Given the description of an element on the screen output the (x, y) to click on. 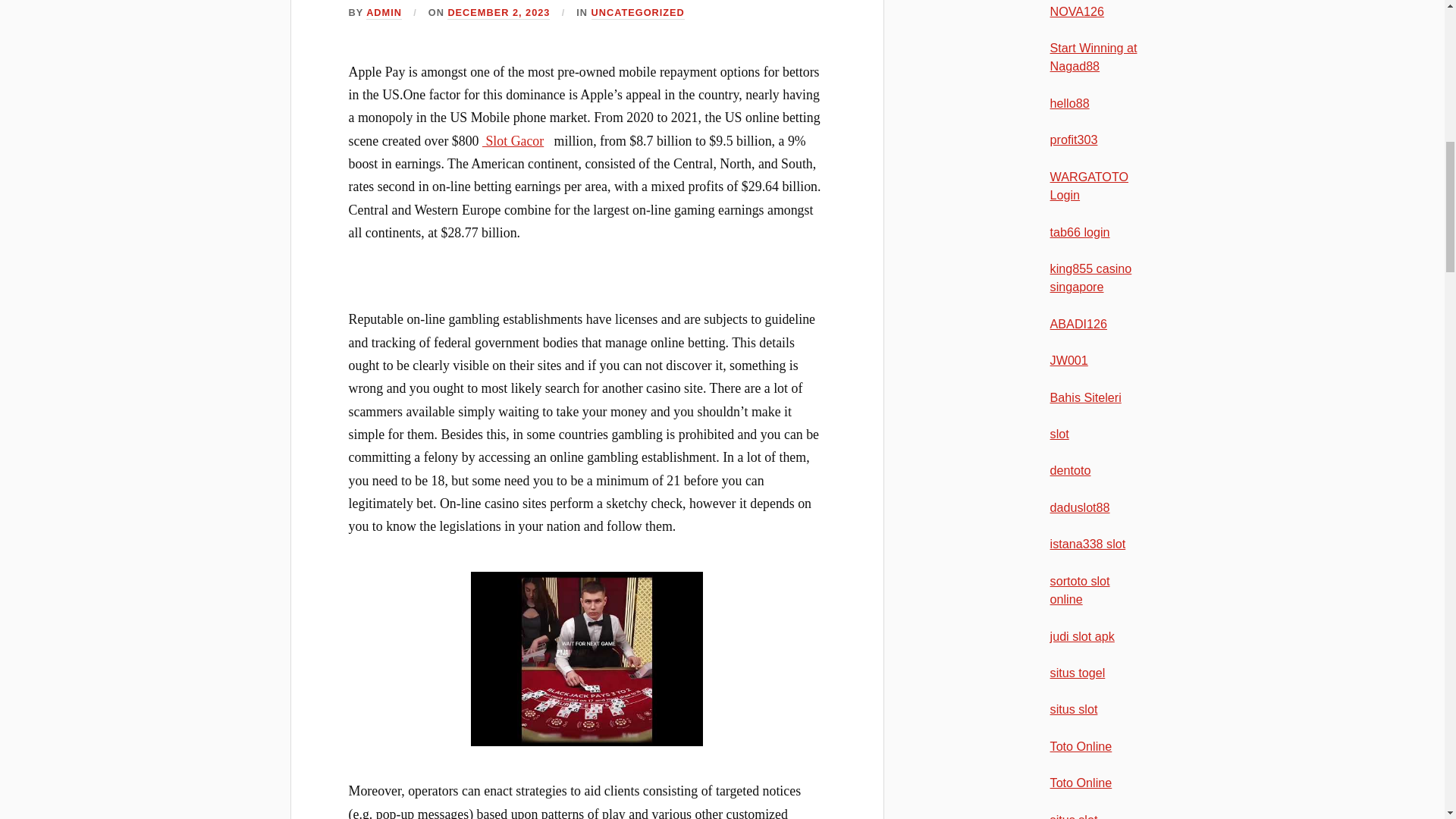
Start Winning at Nagad88 (1093, 56)
DECEMBER 2, 2023 (498, 12)
UNCATEGORIZED (637, 12)
Posts by admin (383, 12)
Slot Gacor (512, 140)
hello88 (1069, 102)
ADMIN (383, 12)
NOVA126 (1076, 11)
